Given the description of an element on the screen output the (x, y) to click on. 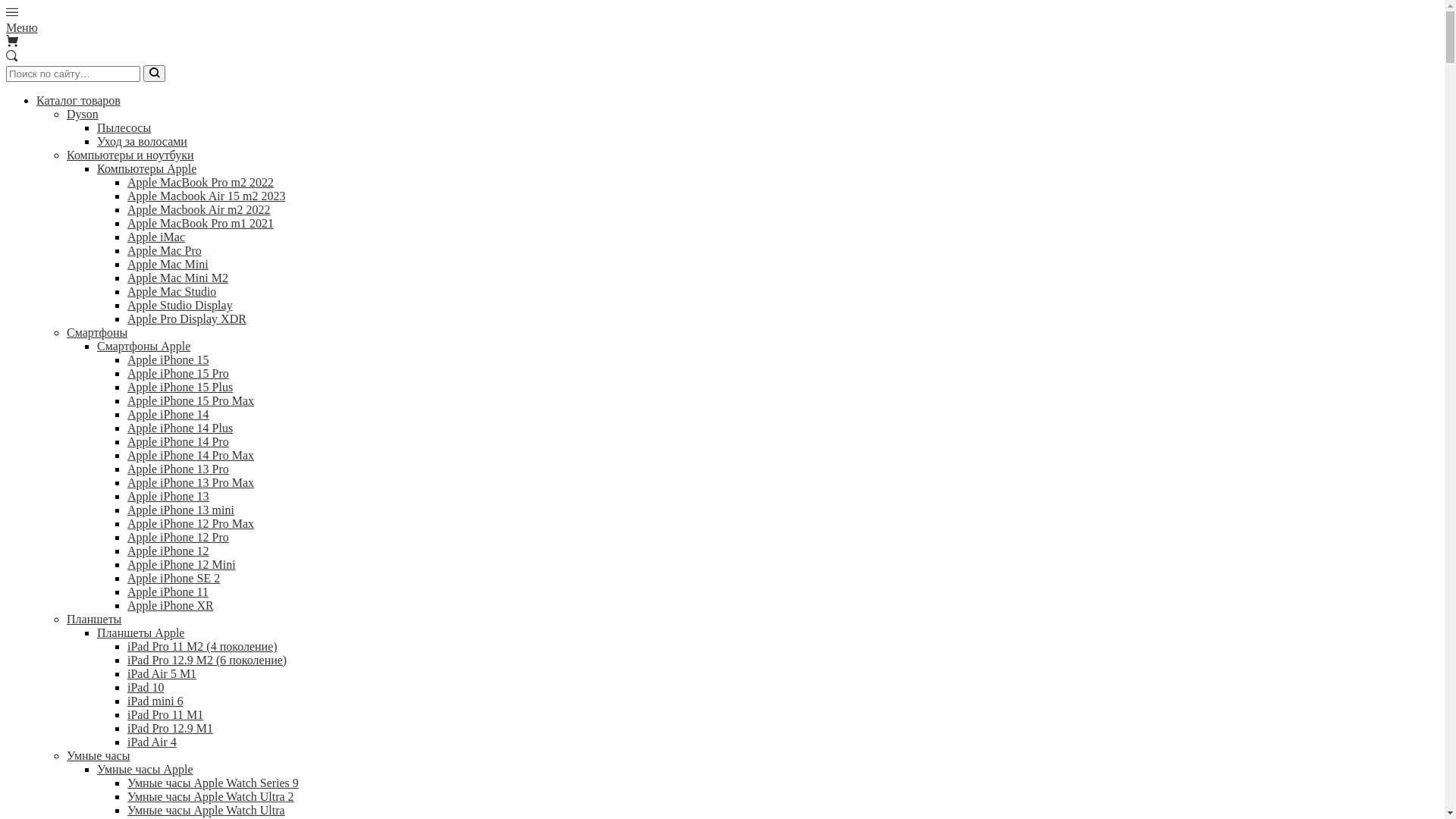
Apple iPhone 14 Element type: text (168, 413)
Apple iPhone SE 2 Element type: text (173, 577)
Apple iPhone 12 Pro Max Element type: text (190, 523)
Apple Mac Pro Element type: text (164, 250)
iPad Pro 11 M1 Element type: text (165, 714)
Apple iPhone 15 Plus Element type: text (179, 386)
iPad Air 4 Element type: text (151, 741)
Apple Mac Studio Element type: text (171, 291)
Dyson Element type: text (82, 113)
Apple iPhone XR Element type: text (170, 605)
iPad Air 5 M1 Element type: text (161, 673)
iPad Pro 12.9 M1 Element type: text (170, 727)
Apple Mac Mini Element type: text (167, 263)
Apple iPhone 15 Element type: text (168, 359)
Apple iPhone 13 Element type: text (168, 495)
Apple iMac Element type: text (156, 236)
Apple iPhone 14 Plus Element type: text (179, 427)
Apple iPhone 13 Pro Max Element type: text (190, 482)
Apple Pro Display XDR Element type: text (186, 318)
iPad 10 Element type: text (145, 686)
Apple iPhone 12 Pro Element type: text (178, 536)
Apple iPhone 11 Element type: text (167, 591)
Apple iPhone 12 Element type: text (168, 550)
Apple iPhone 15 Pro Element type: text (178, 373)
Apple iPhone 14 Pro Max Element type: text (190, 454)
Apple MacBook Pro m2 2022 Element type: text (200, 181)
iPad mini 6 Element type: text (155, 700)
Apple iPhone 13 mini Element type: text (180, 509)
Apple iPhone 15 Pro Max Element type: text (190, 400)
Apple Macbook Air m2 2022 Element type: text (198, 209)
Apple Studio Display Element type: text (179, 304)
Apple iPhone 14 Pro Element type: text (178, 441)
Apple iPhone 13 Pro Element type: text (178, 468)
Apple MacBook Pro m1 2021 Element type: text (200, 222)
Apple Mac Mini M2 Element type: text (177, 277)
Apple Macbook Air 15 m2 2023 Element type: text (206, 195)
Apple iPhone 12 Mini Element type: text (181, 564)
